Given the description of an element on the screen output the (x, y) to click on. 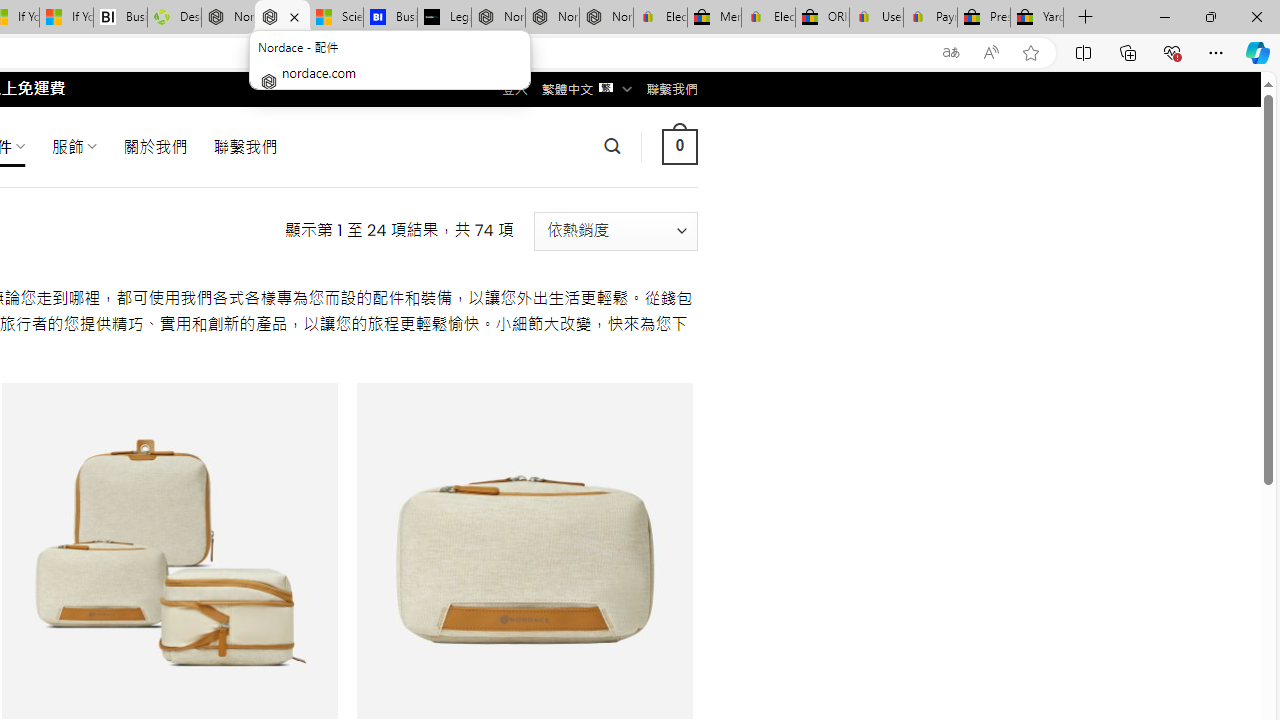
  0   (679, 146)
Press Room - eBay Inc. (983, 17)
Descarga Driver Updater (174, 17)
